Given the description of an element on the screen output the (x, y) to click on. 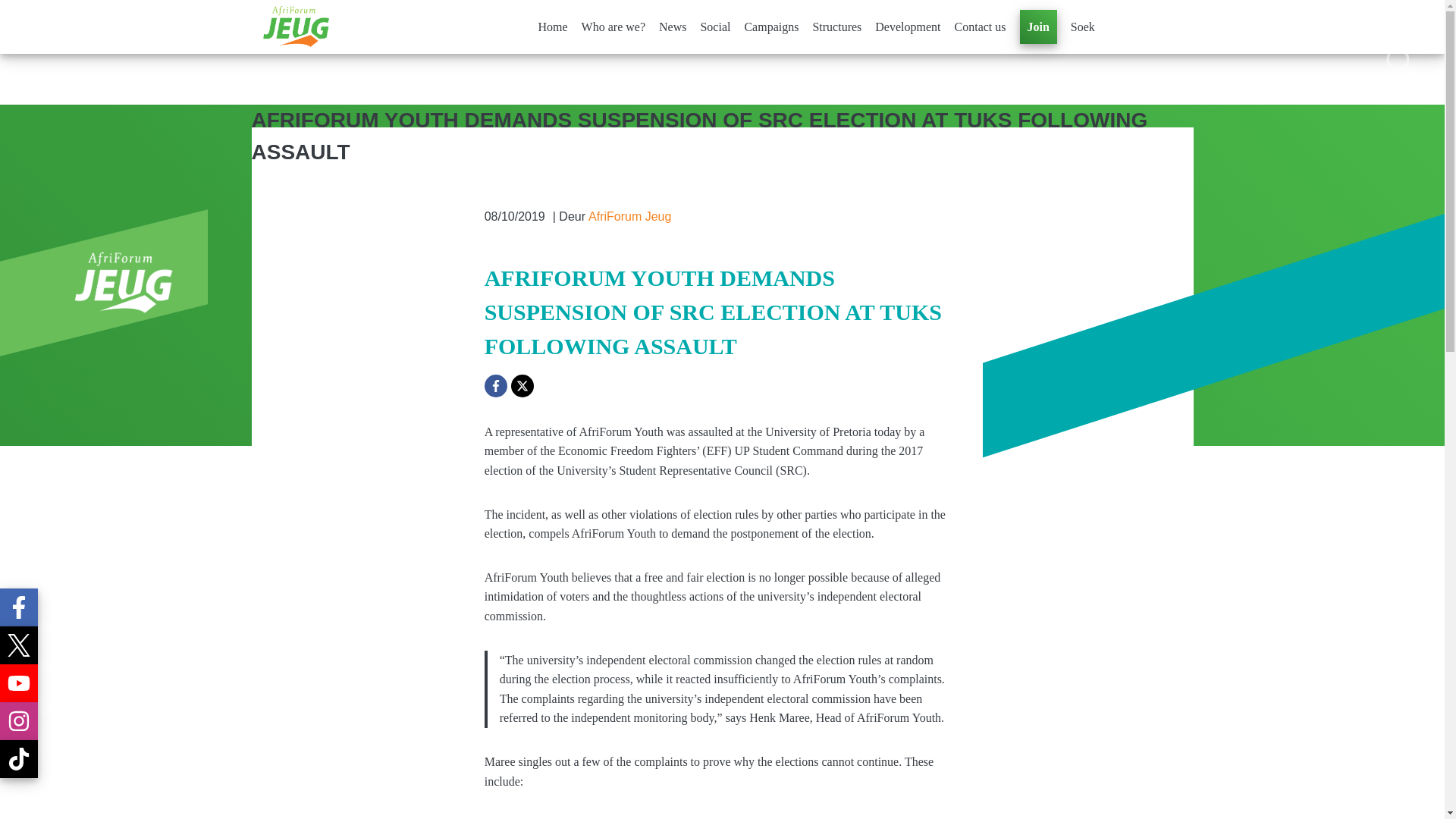
Social (715, 26)
Join (1038, 26)
Home (552, 26)
Structures (836, 26)
Who are we? (612, 26)
Soek (1082, 26)
Learn More (1398, 60)
News (672, 26)
Campaigns (770, 26)
AfriForum Jeug (629, 216)
